Given the description of an element on the screen output the (x, y) to click on. 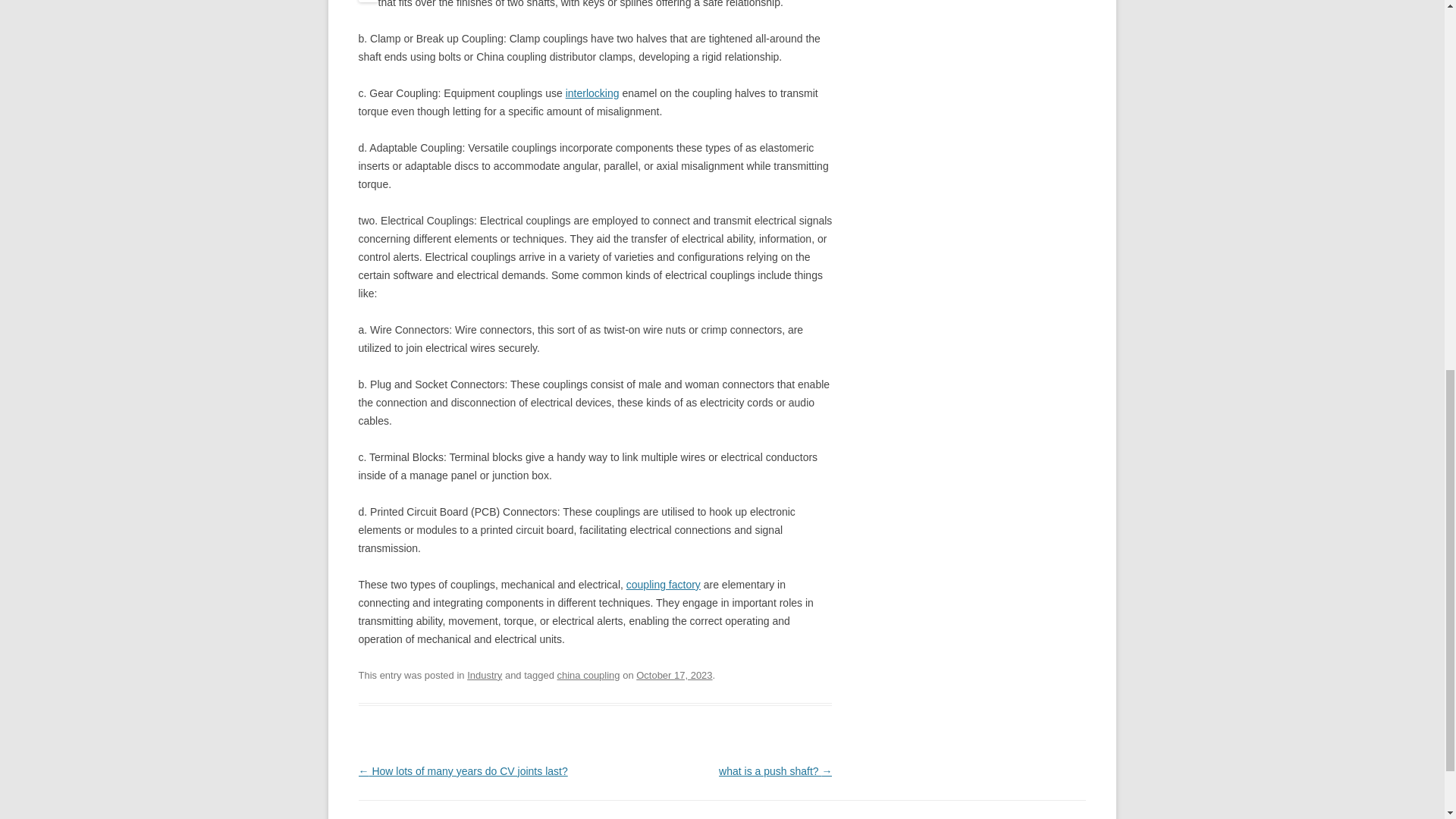
interlocking (593, 92)
October 17, 2023 (673, 674)
coupling factory (663, 584)
china coupling (588, 674)
1:35 am (673, 674)
Industry (484, 674)
